Given the description of an element on the screen output the (x, y) to click on. 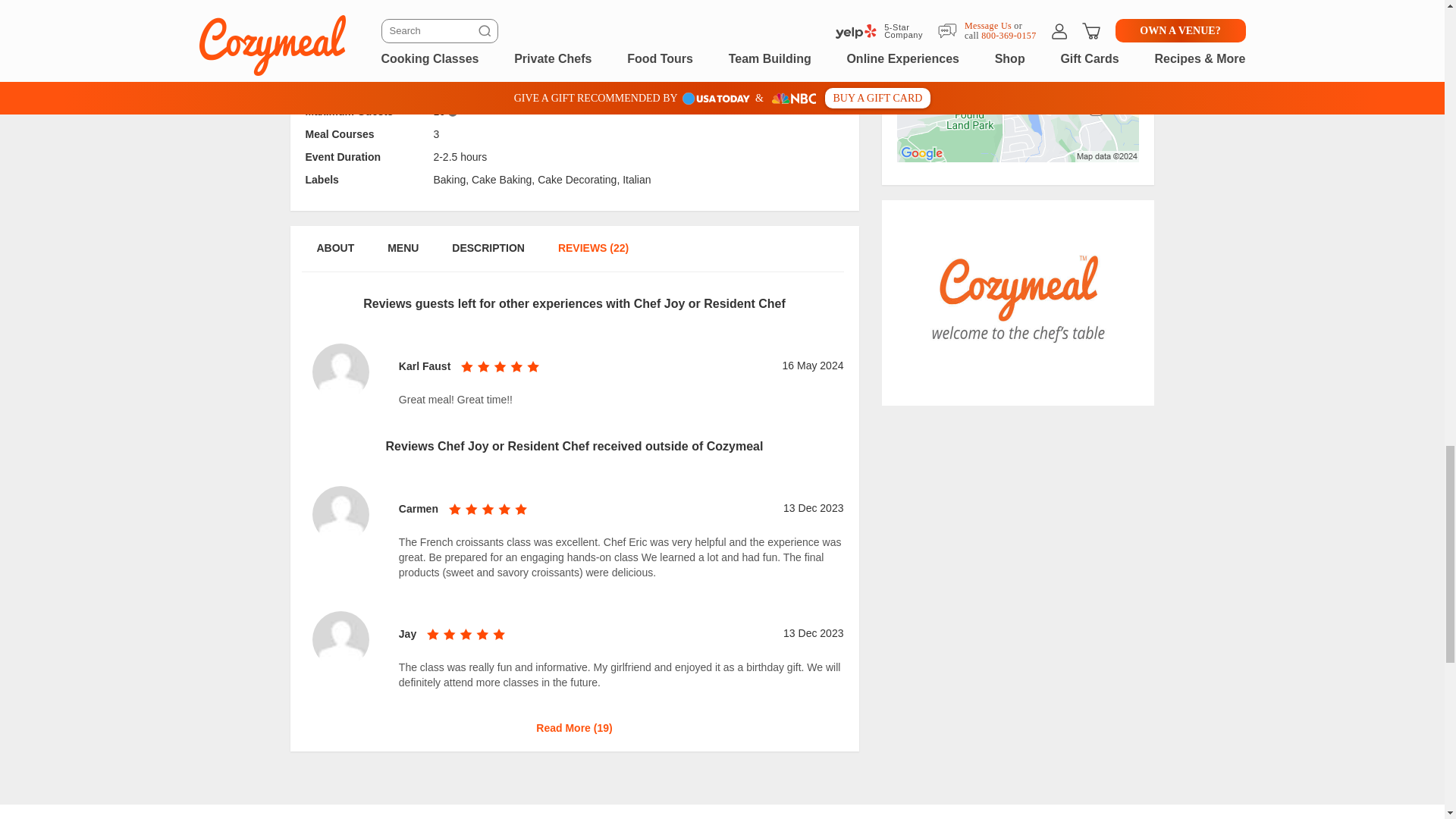
DESCRIPTION (488, 255)
Buy Gift Cards Downtown Darien Darien (1017, 301)
MENU (402, 42)
ABOUT (334, 255)
MENU (402, 255)
ABOUT (334, 42)
DESCRIPTION (488, 42)
